Given the description of an element on the screen output the (x, y) to click on. 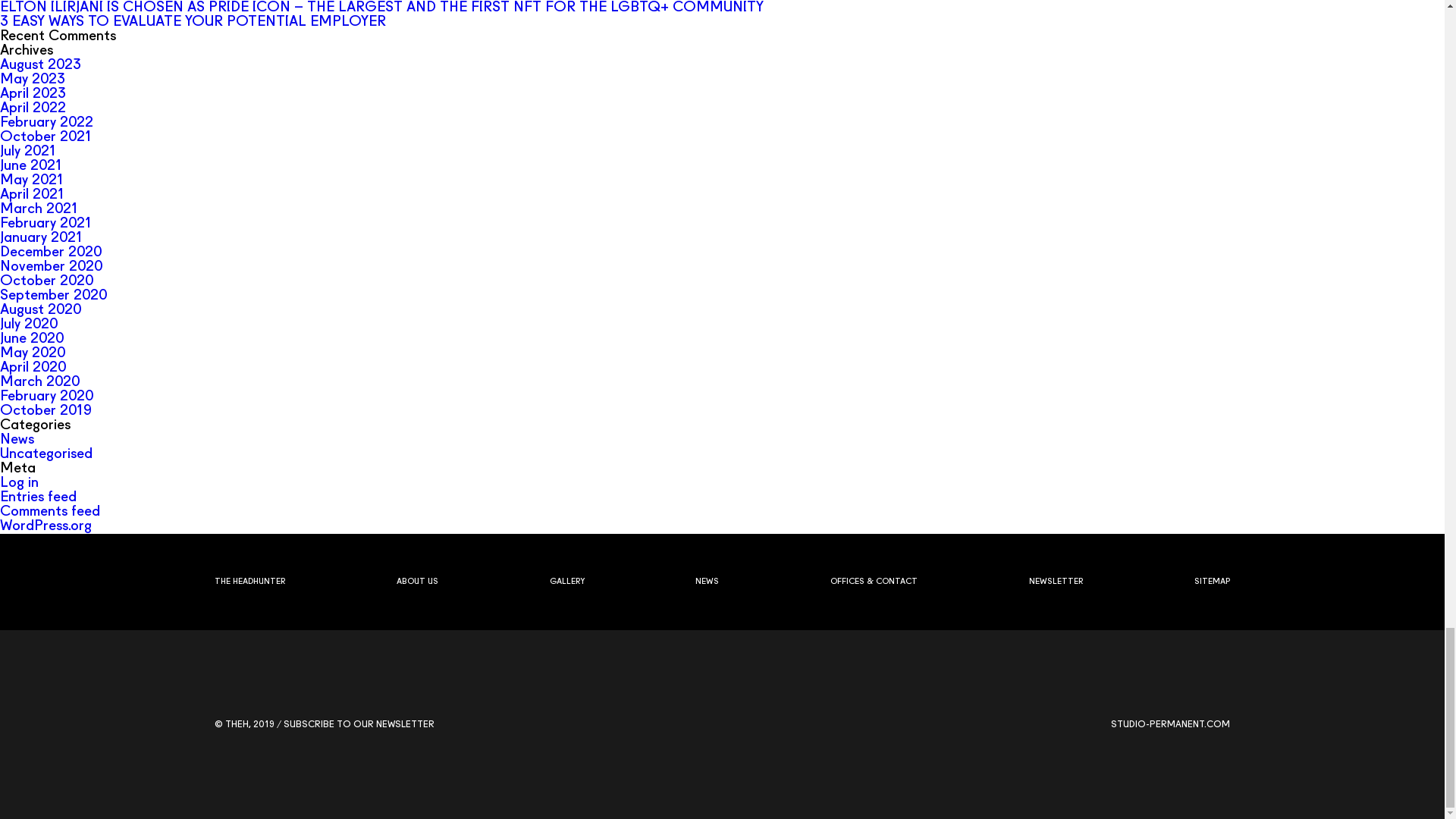
May 2023 (32, 79)
April 2022 (32, 108)
April 2023 (32, 93)
August 2023 (40, 65)
3 EASY WAYS TO EVALUATE YOUR POTENTIAL EMPLOYER (192, 22)
